Given the description of an element on the screen output the (x, y) to click on. 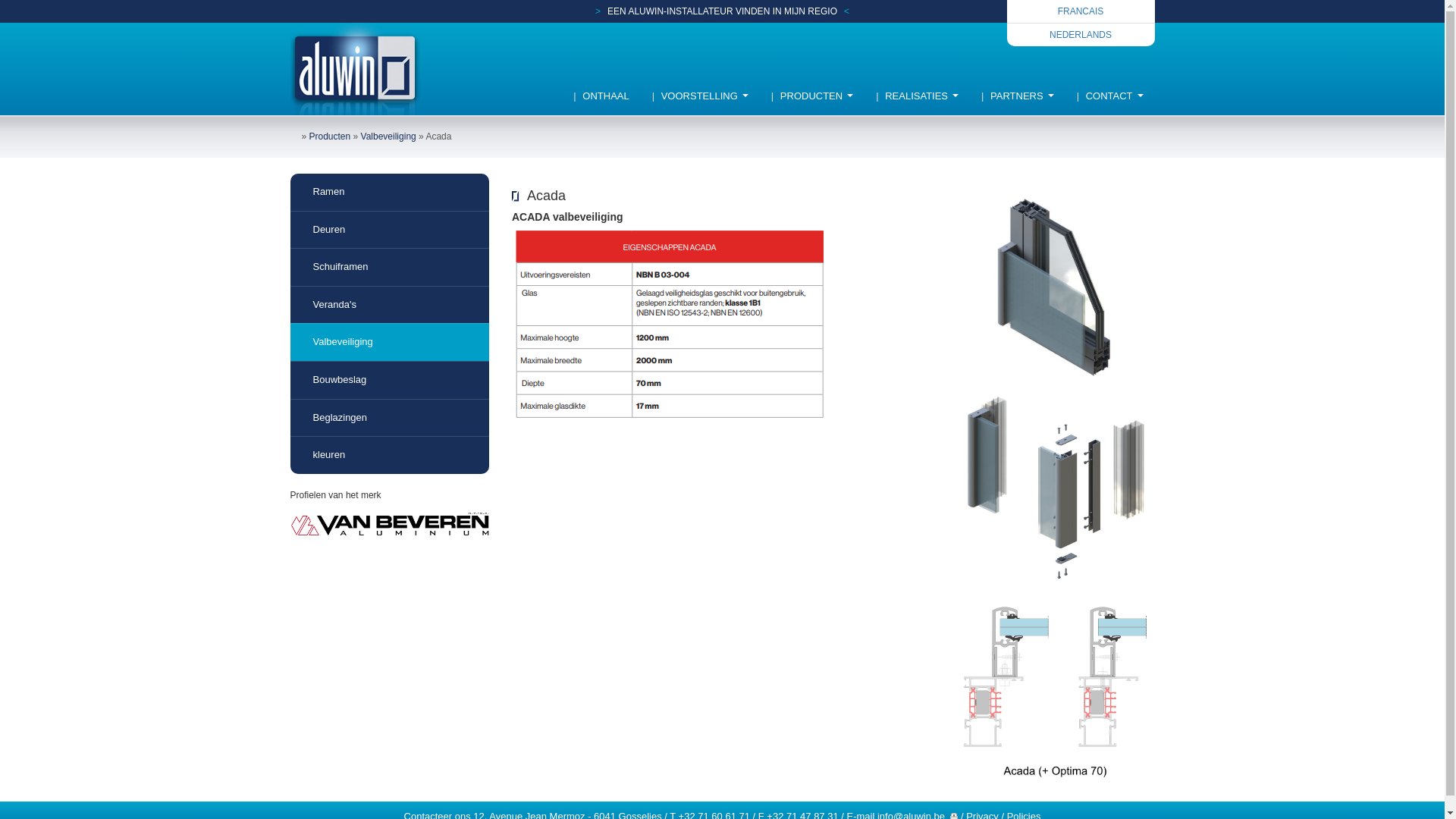
Producten Element type: text (330, 136)
PARTNERS... Element type: text (1017, 96)
Valbeveiliging Element type: text (388, 136)
Schuiframen Element type: text (389, 266)
VOORSTELLING... Element type: text (699, 96)
Valbeveiliging Element type: text (389, 341)
Veranda's Element type: text (389, 304)
PRODUCTEN... Element type: text (811, 96)
NEDERLANDS Element type: text (1080, 34)
Ramen Element type: text (389, 191)
ONTHAAL Element type: text (600, 96)
kleuren Element type: text (389, 454)
CONTACT... Element type: text (1109, 96)
REALISATIES... Element type: text (916, 96)
FRANCAIS Element type: text (1080, 11)
Deuren Element type: text (389, 229)
Beglazingen Element type: text (389, 417)
EEN ALUWIN-INSTALLATEUR VINDEN IN MIJN REGIO Element type: text (722, 11)
Bouwbeslag Element type: text (389, 379)
